Given the description of an element on the screen output the (x, y) to click on. 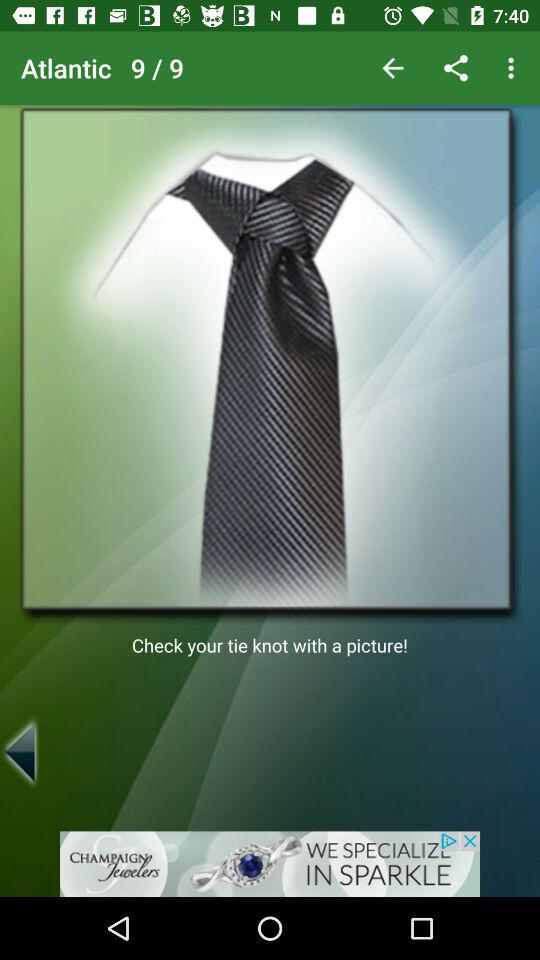
open advertisement (270, 864)
